Given the description of an element on the screen output the (x, y) to click on. 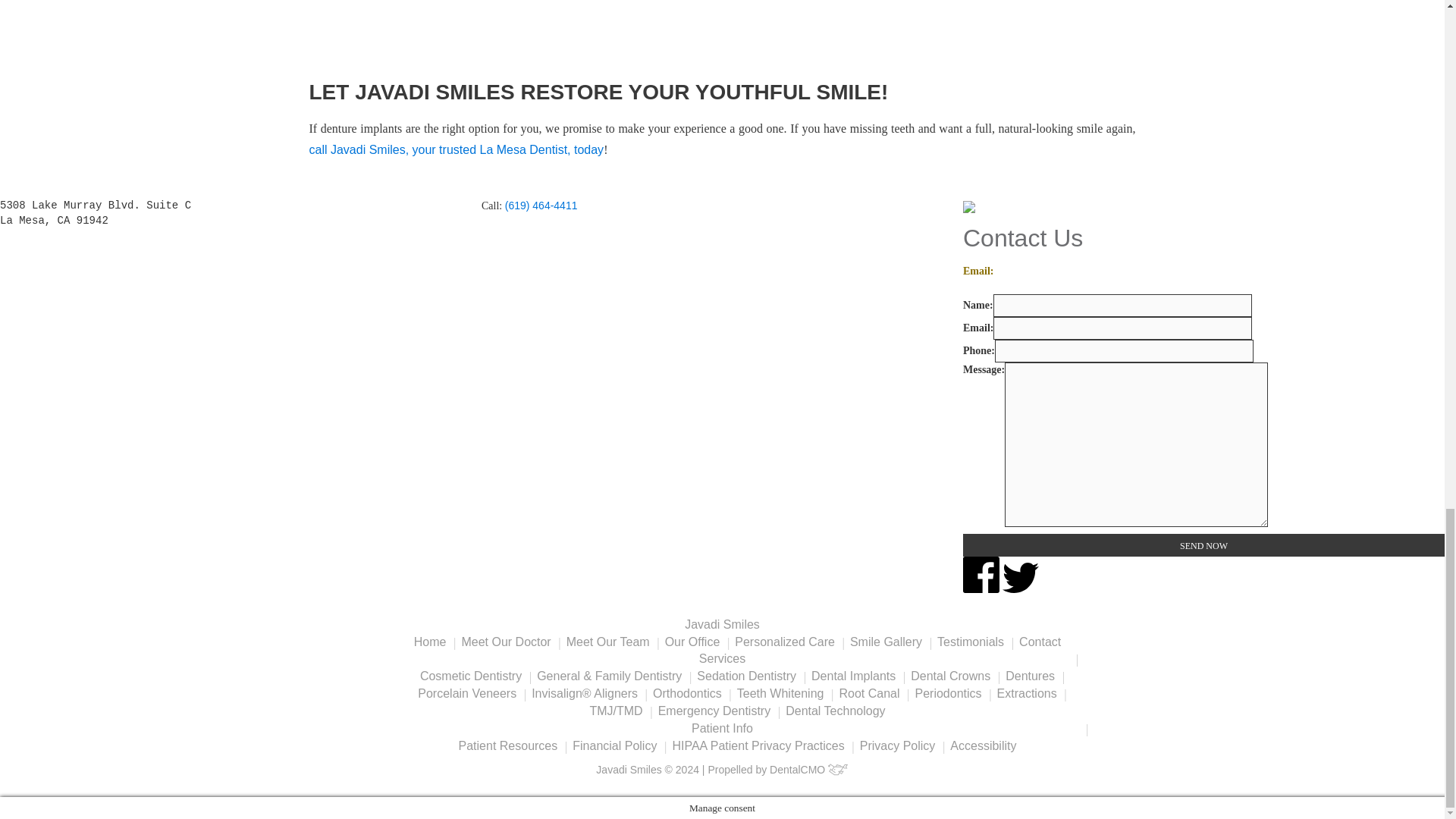
Dental Implants (852, 675)
call Javadi Smiles, your trusted La Mesa Dentist, today (456, 149)
Services (721, 658)
Our Office (692, 641)
Javadi Smiles (722, 624)
Yelp Created with Sketch. (1090, 574)
Home (429, 641)
Teeth Whitening (780, 693)
Dental Crowns (950, 675)
Smile Gallery (885, 641)
Testimonials (970, 641)
Yelp Created with Sketch. (1090, 589)
LinkedIn Created with Sketch. (1057, 577)
Personalized Care (784, 641)
Contact (1040, 641)
